Given the description of an element on the screen output the (x, y) to click on. 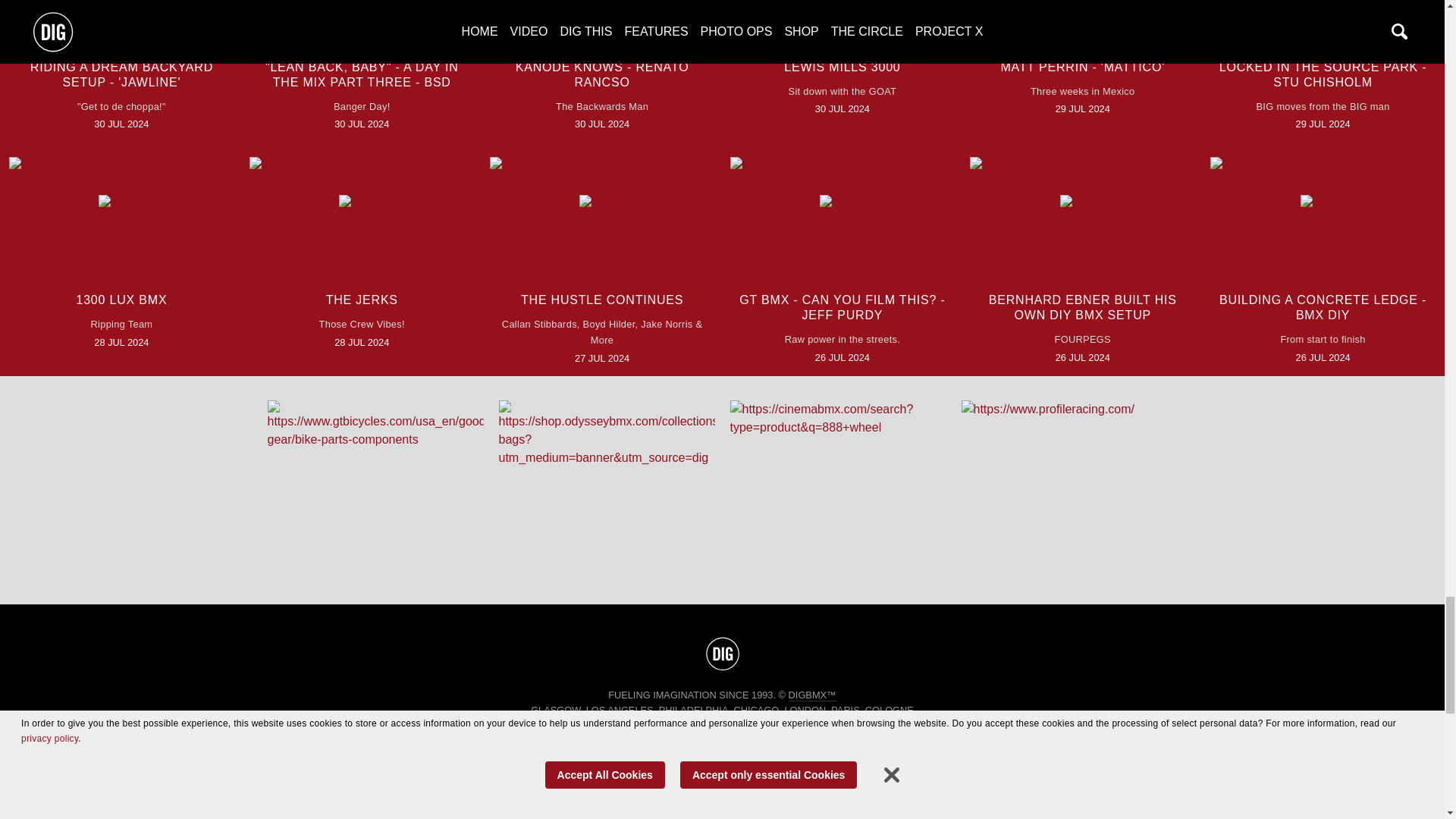
To the top (722, 653)
